Given the description of an element on the screen output the (x, y) to click on. 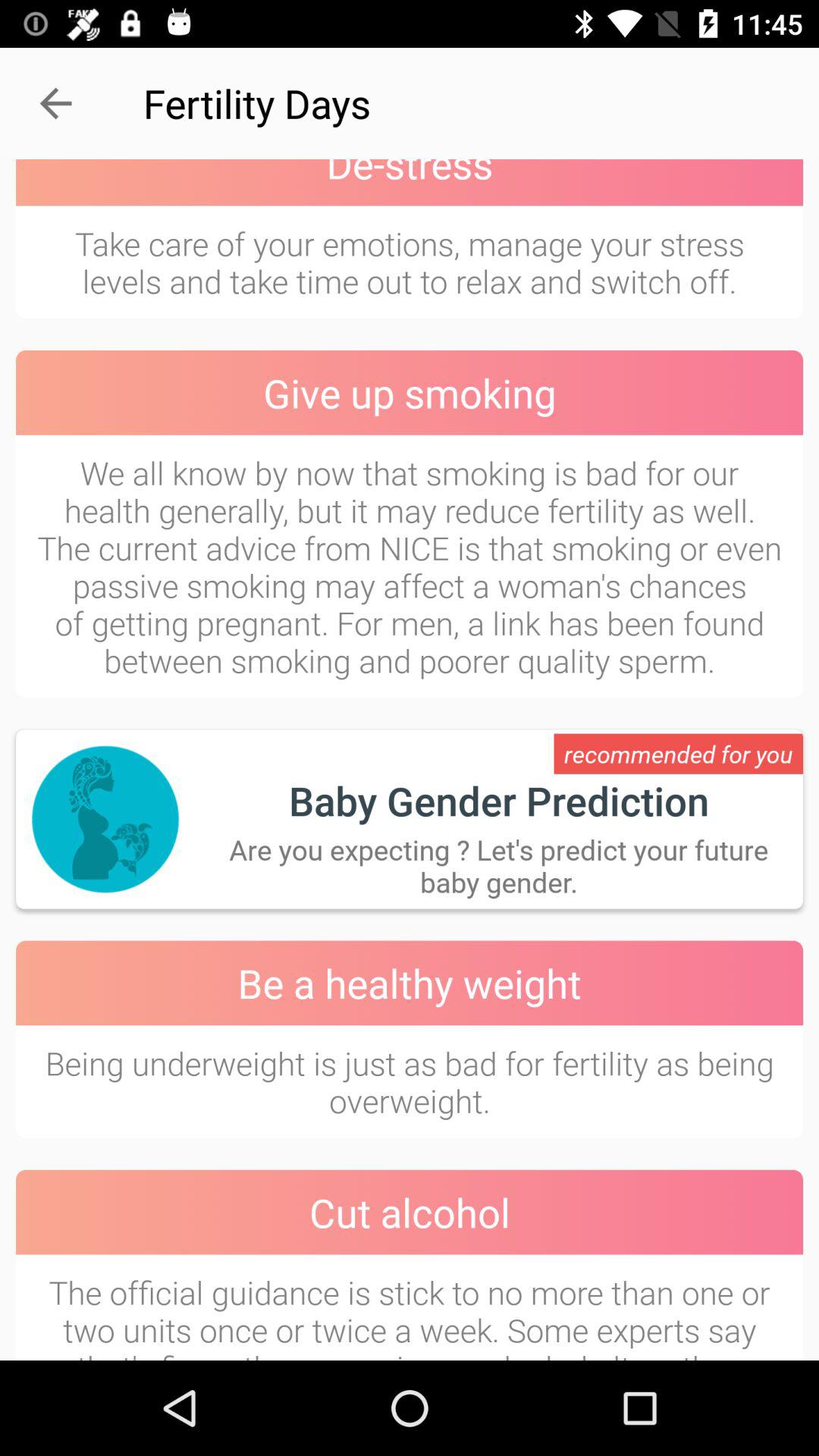
tap the item next to the fertility days item (55, 103)
